Given the description of an element on the screen output the (x, y) to click on. 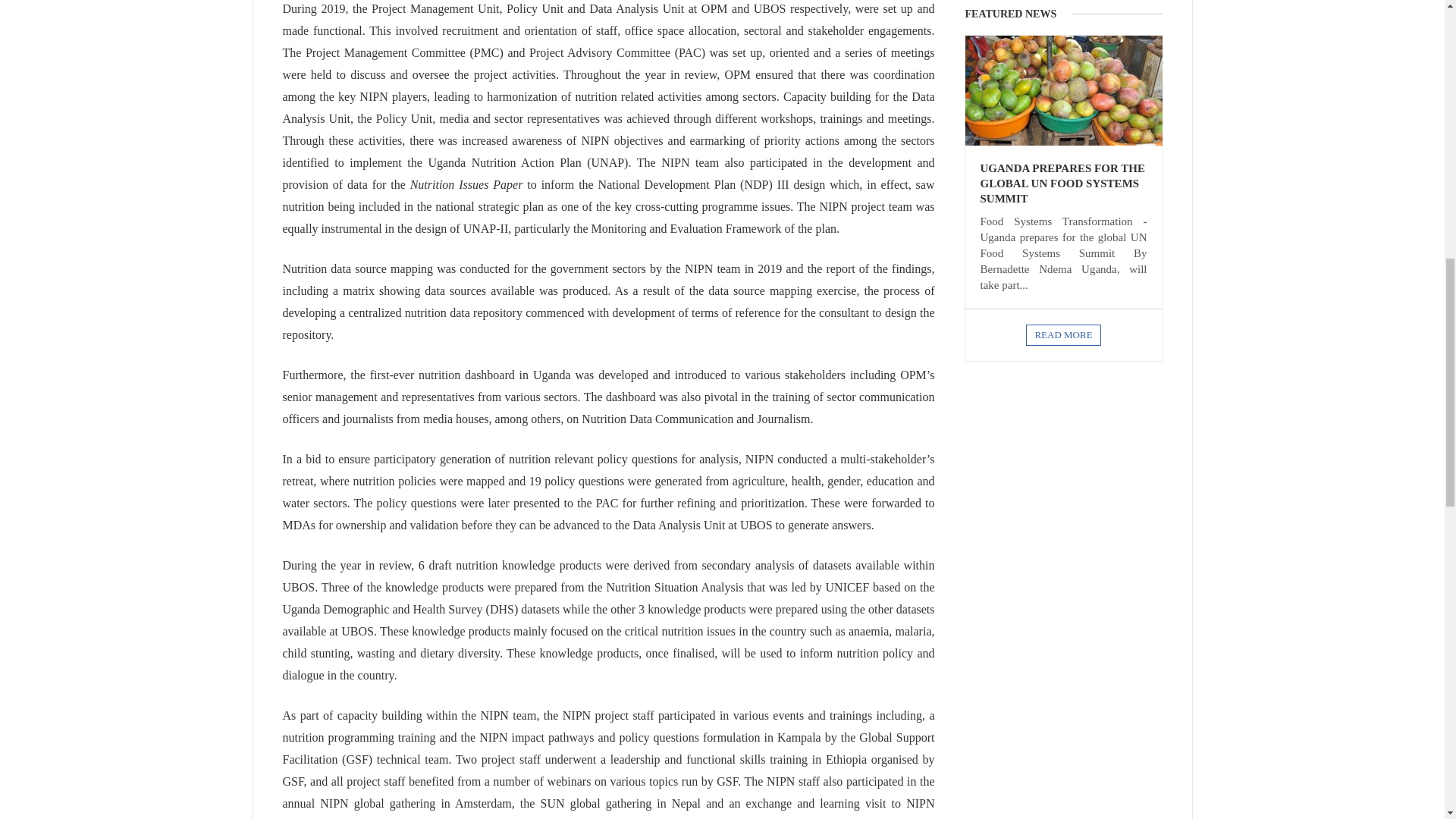
Uganda prepares for the global UN Food Systems Summit (1062, 90)
UGANDA PREPARES FOR THE GLOBAL UN FOOD SYSTEMS SUMMIT (1061, 183)
Read more (1063, 334)
Uganda prepares for the global UN Food Systems Summit (1061, 183)
READ MORE (1063, 334)
